Given the description of an element on the screen output the (x, y) to click on. 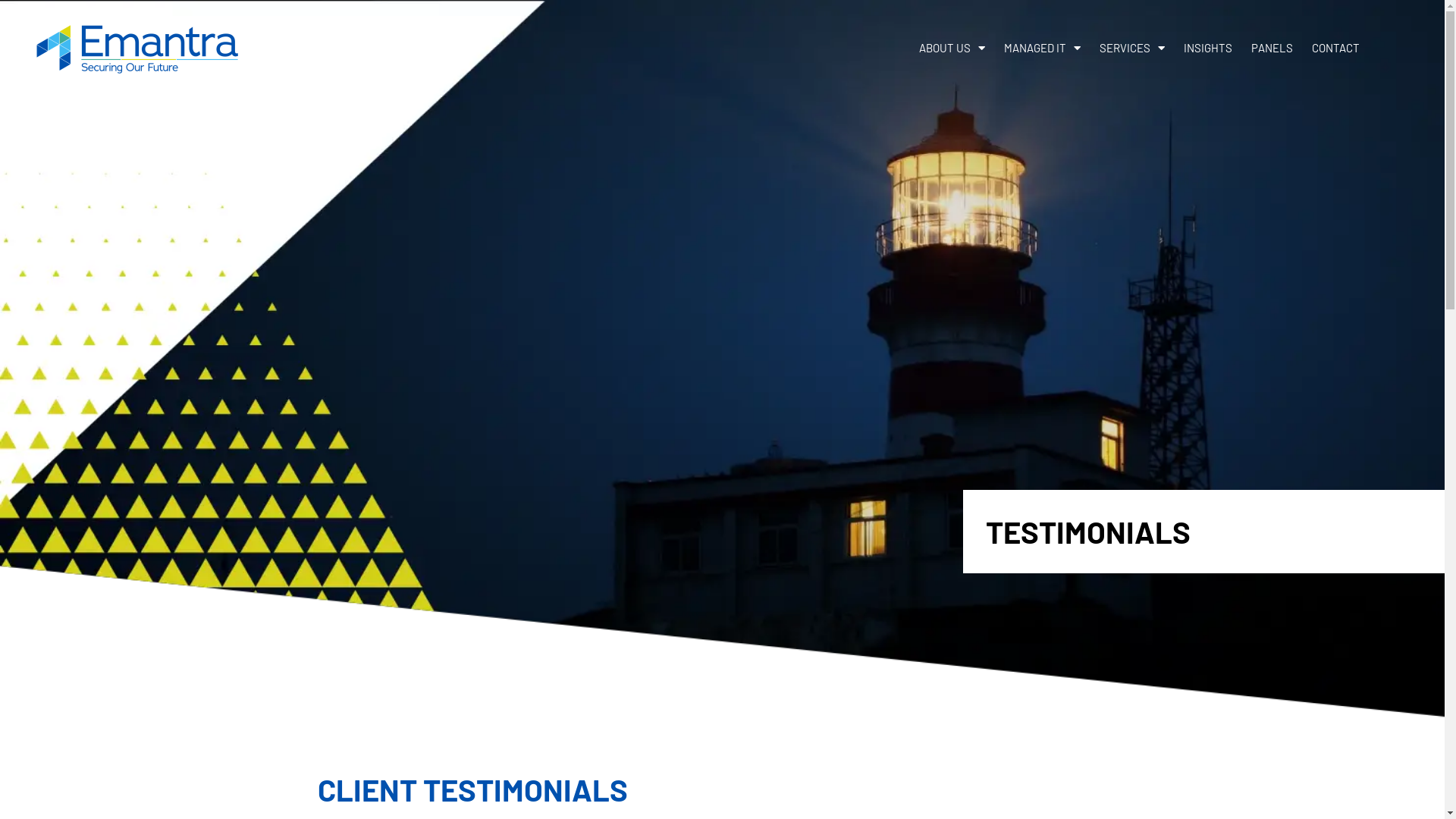
ABOUT US Element type: text (951, 47)
PANELS Element type: text (1271, 47)
cropped-Emantra-Blue-on-Transparent-2023.png Element type: hover (136, 46)
CONTACT Element type: text (1335, 47)
INSIGHTS Element type: text (1207, 47)
MANAGED IT Element type: text (1042, 47)
SERVICES Element type: text (1132, 47)
